Given the description of an element on the screen output the (x, y) to click on. 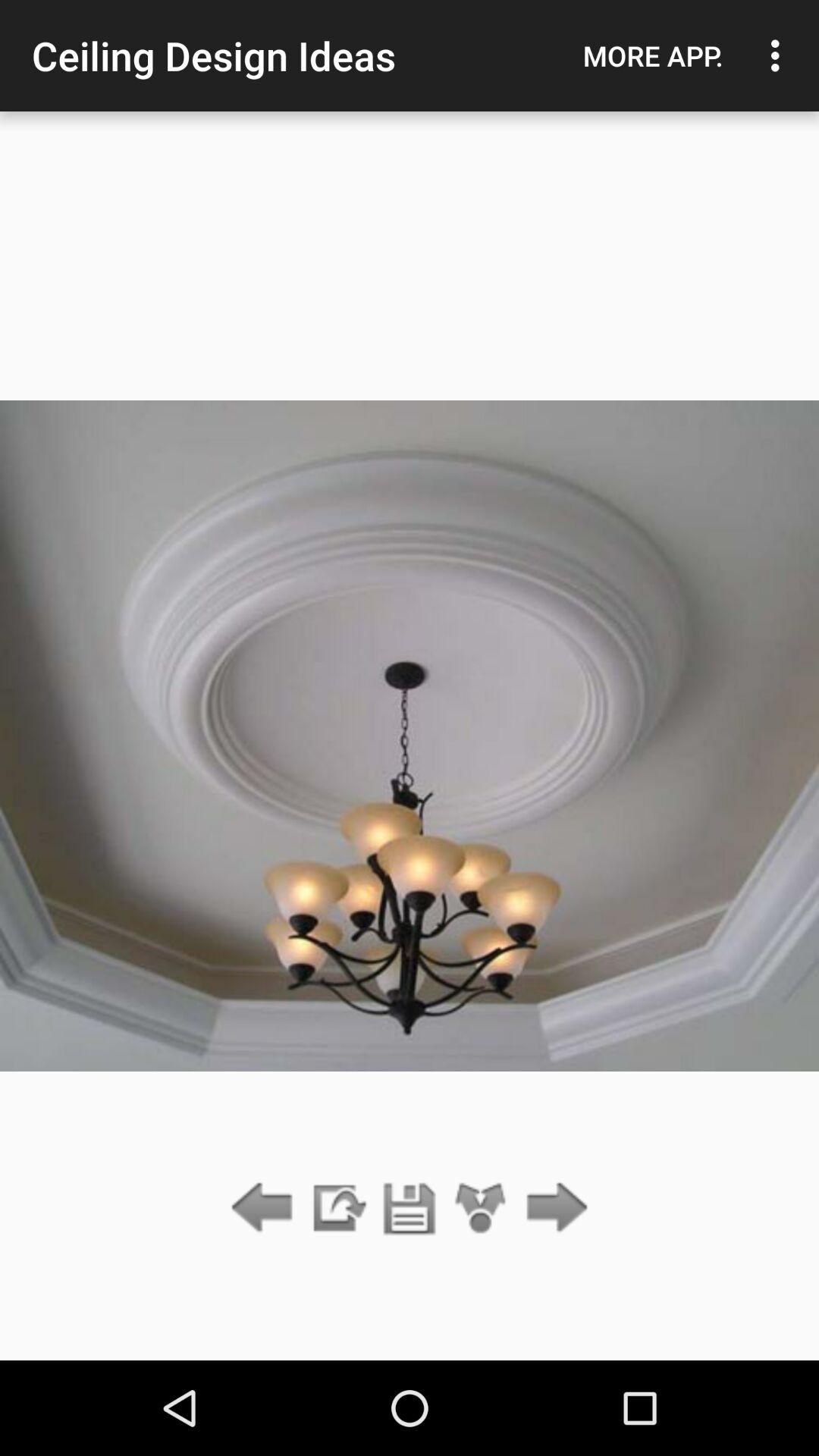
turn on the item below more app. (552, 1209)
